Given the description of an element on the screen output the (x, y) to click on. 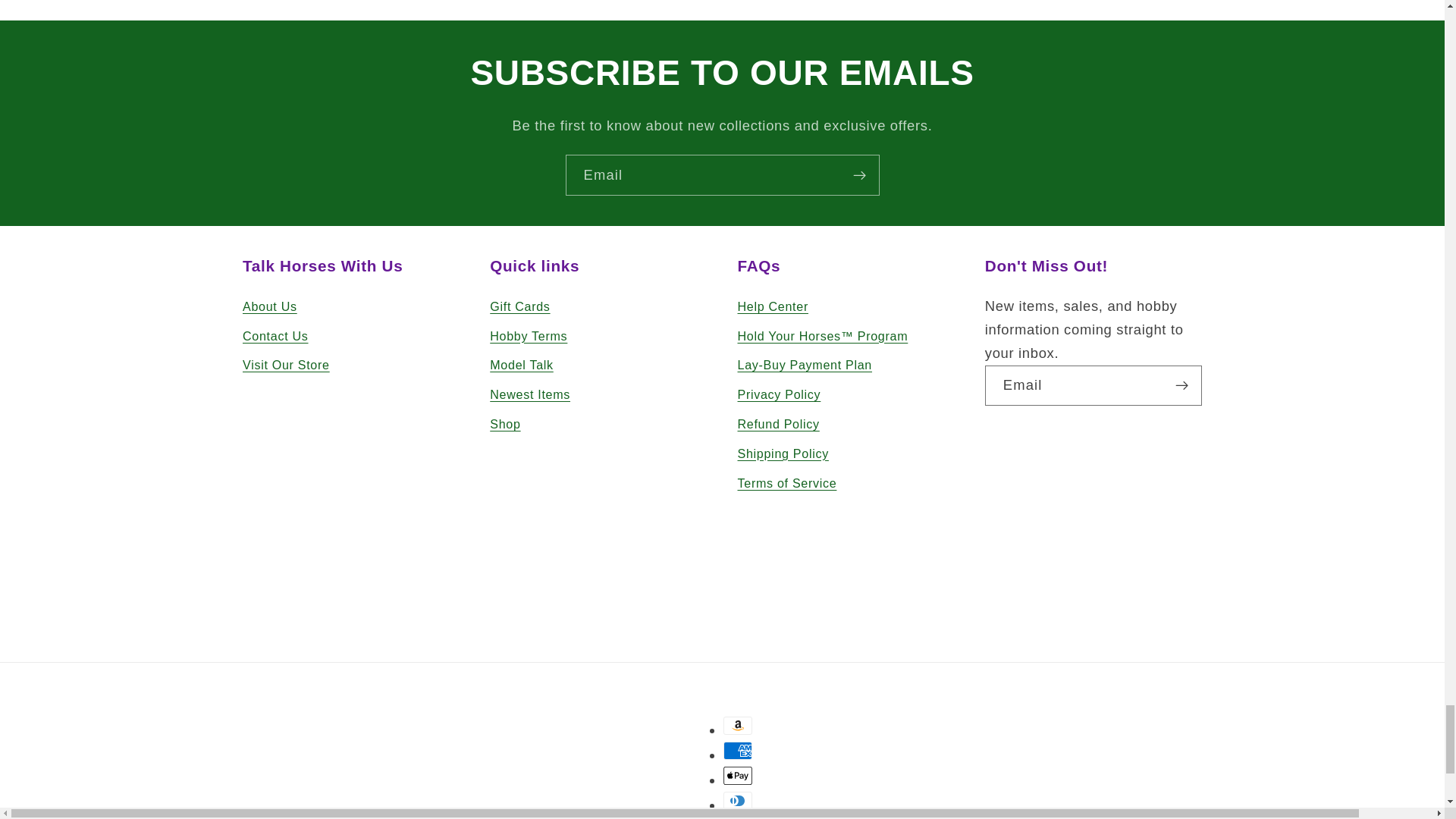
Diners Club (737, 800)
American Express (737, 751)
Discover (737, 817)
Amazon (737, 725)
Apple Pay (737, 775)
